Given the description of an element on the screen output the (x, y) to click on. 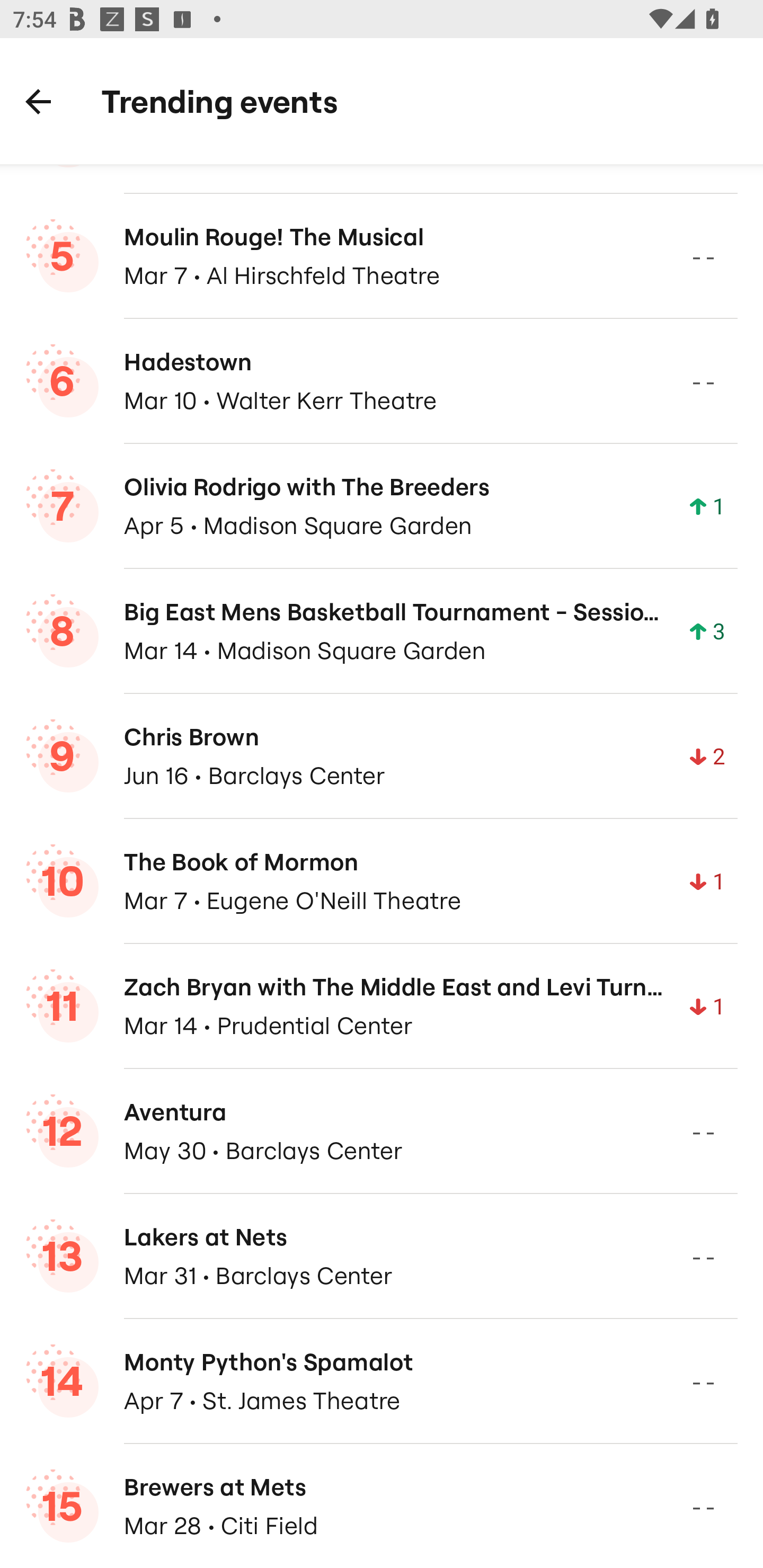
Back (38, 100)
